Given the description of an element on the screen output the (x, y) to click on. 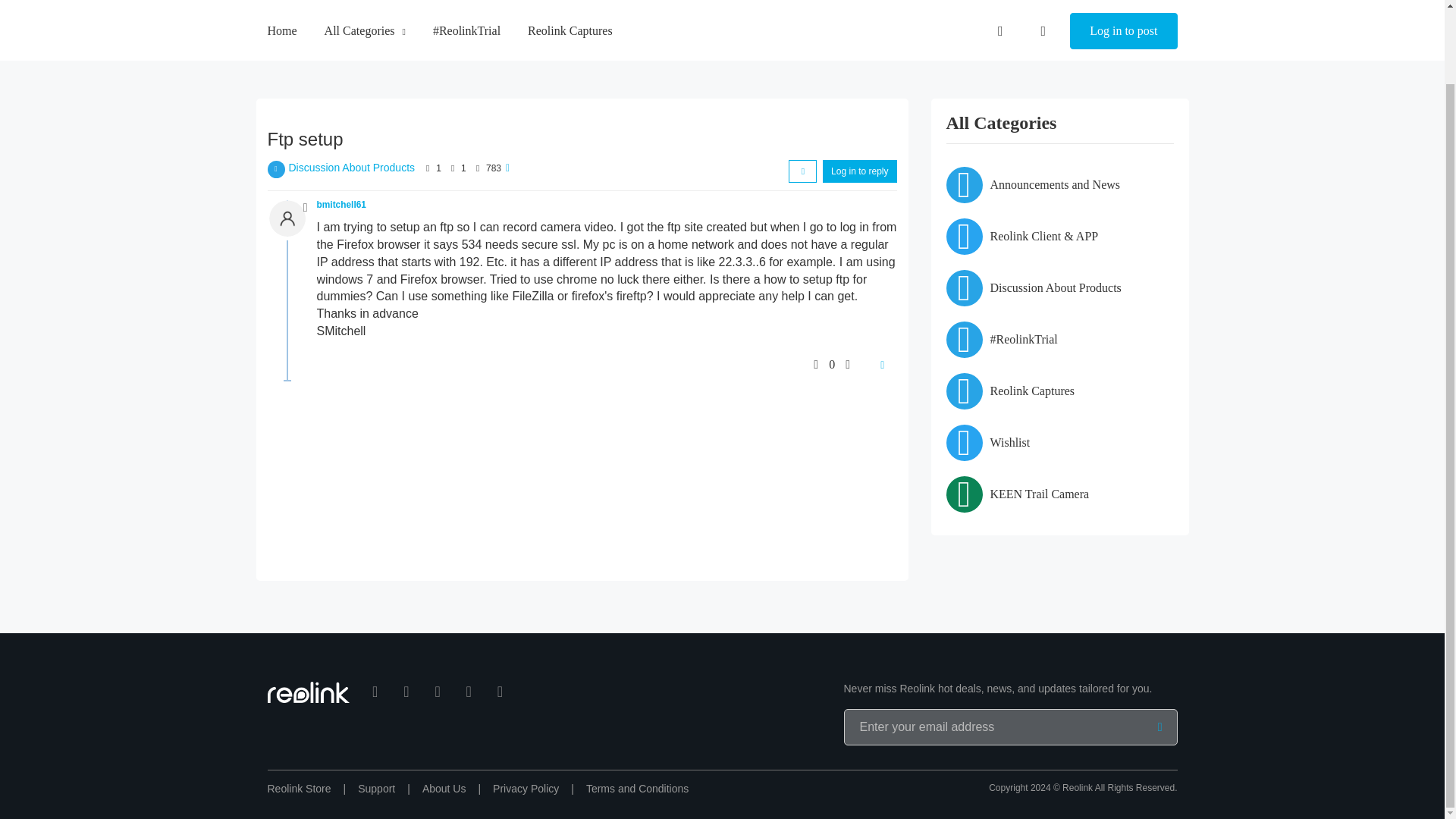
Log in to reply (859, 170)
bmitchell61 (341, 204)
Sort by (802, 170)
Views (477, 167)
783 (493, 167)
Posters (427, 167)
Log in to post (1123, 5)
Discussion About Products (351, 167)
Posts (452, 167)
